Given the description of an element on the screen output the (x, y) to click on. 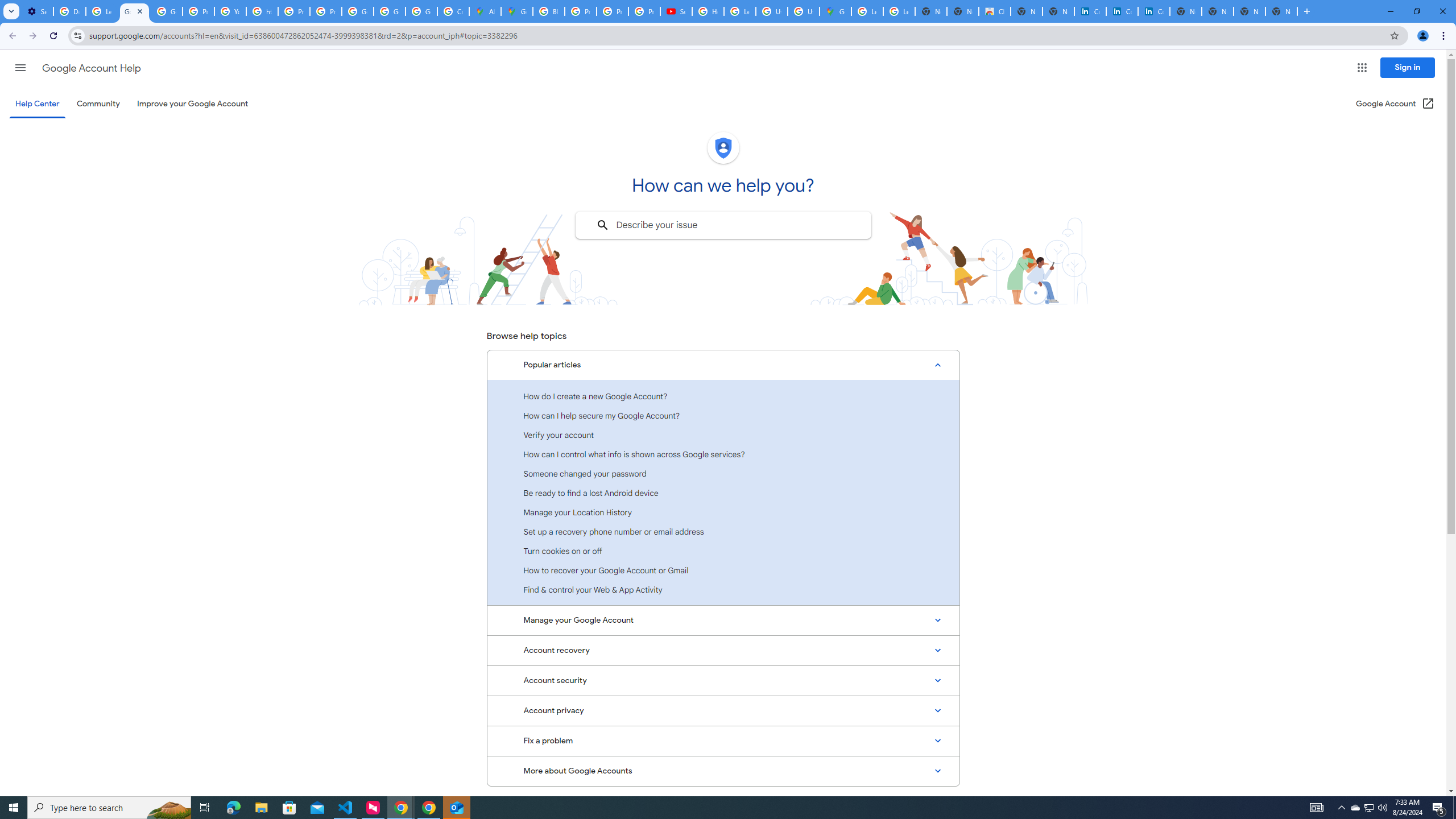
Be ready to find a lost Android device (722, 492)
Privacy Help Center - Policies Help (612, 11)
Find & control your Web & App Activity (722, 589)
Subscriptions - YouTube (676, 11)
Describe your issue to find information that might help you. (722, 225)
Popular articles, Expanded list with 11 items (722, 365)
Improve your Google Account (192, 103)
